Given the description of an element on the screen output the (x, y) to click on. 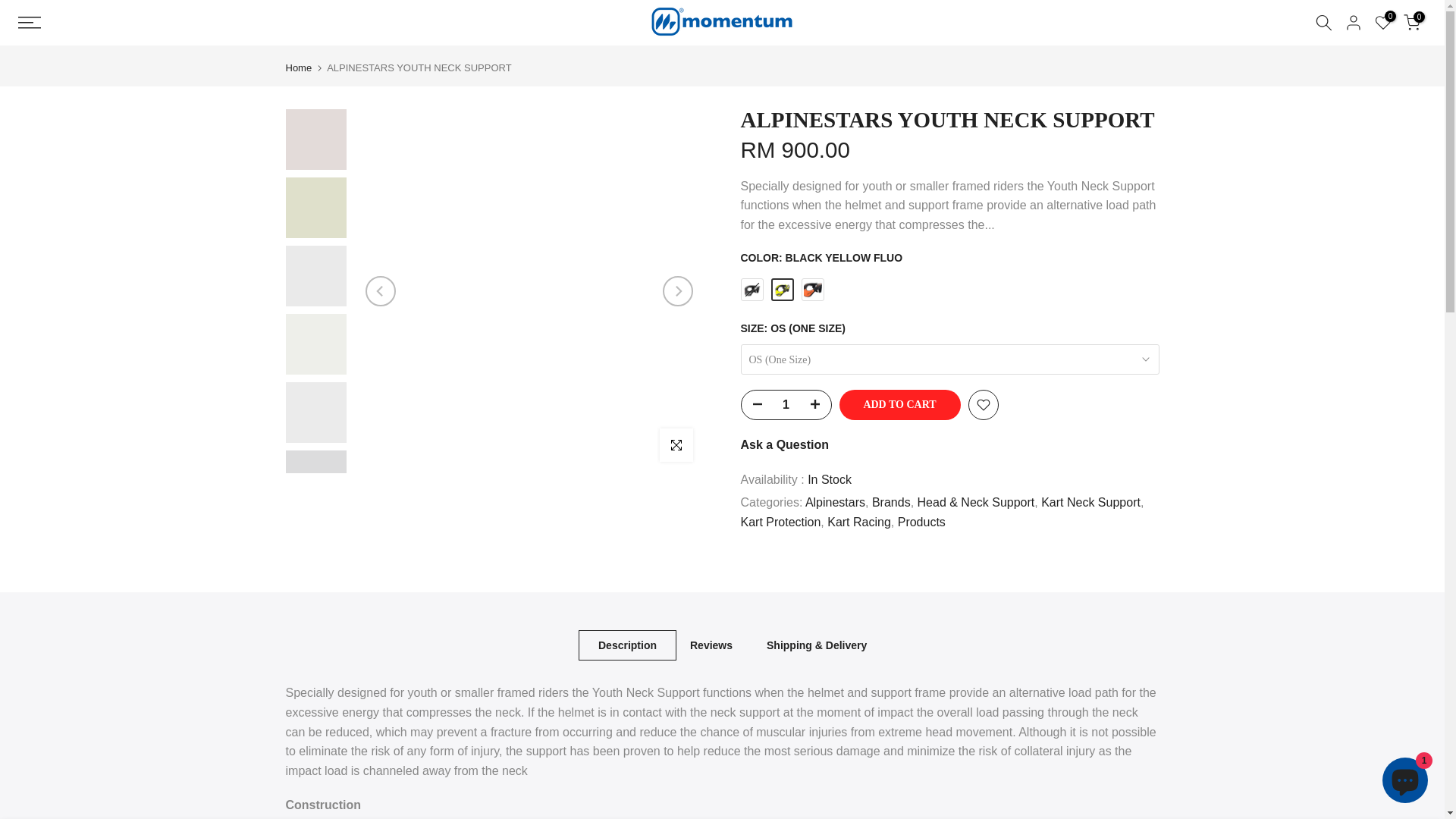
Alpinestars (834, 502)
0 (1382, 22)
Kart Racing (859, 521)
ADD TO CART (898, 404)
Black Orange (812, 289)
Products (921, 521)
0 (1412, 22)
Black Yellow Fluo (781, 289)
Reviews (710, 644)
Black White (750, 289)
1 (786, 404)
Shopify online store chat (1404, 781)
Kart Protection (780, 521)
Home (298, 67)
Kart Neck Support (1090, 502)
